Given the description of an element on the screen output the (x, y) to click on. 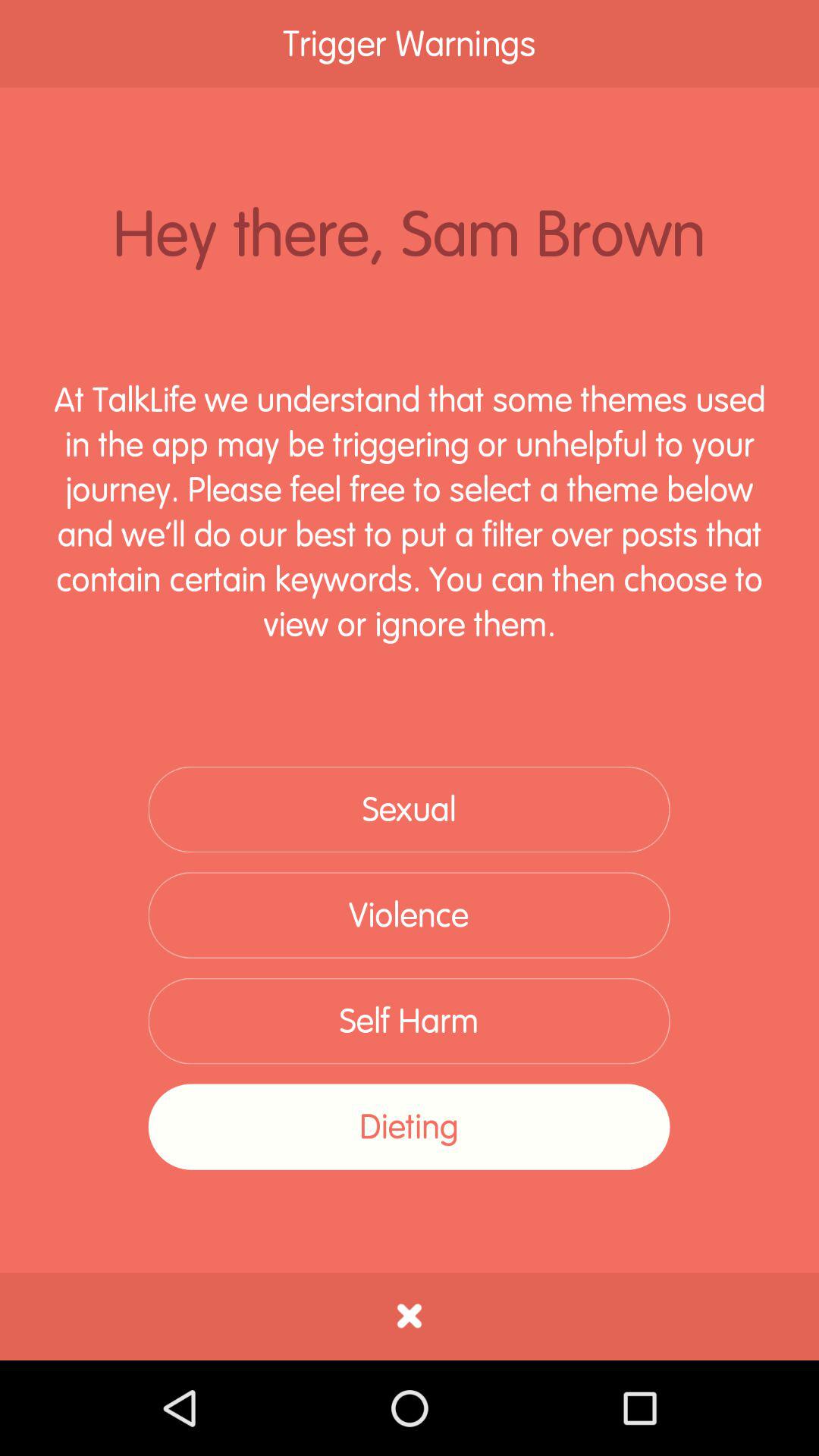
turn on the item above the violence item (408, 809)
